Given the description of an element on the screen output the (x, y) to click on. 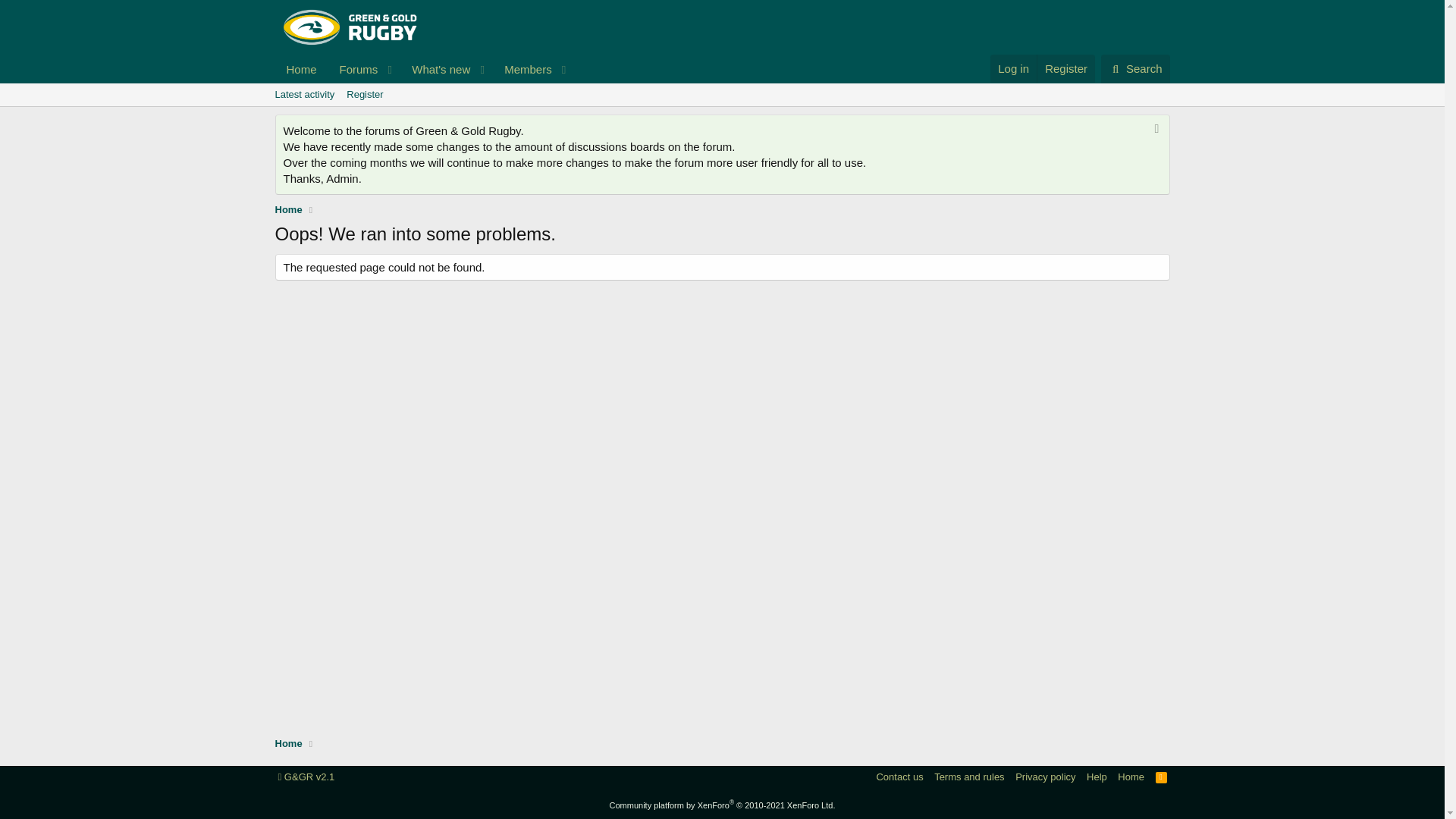
Home (301, 69)
Contact us (899, 776)
Register (364, 94)
Home (1131, 776)
Members (423, 69)
Home (523, 69)
Home (288, 209)
Forums (288, 743)
Search (354, 69)
Latest activity (1135, 68)
Terms and rules (303, 94)
RSS (969, 776)
Log in (1161, 776)
What's new (1013, 68)
